Given the description of an element on the screen output the (x, y) to click on. 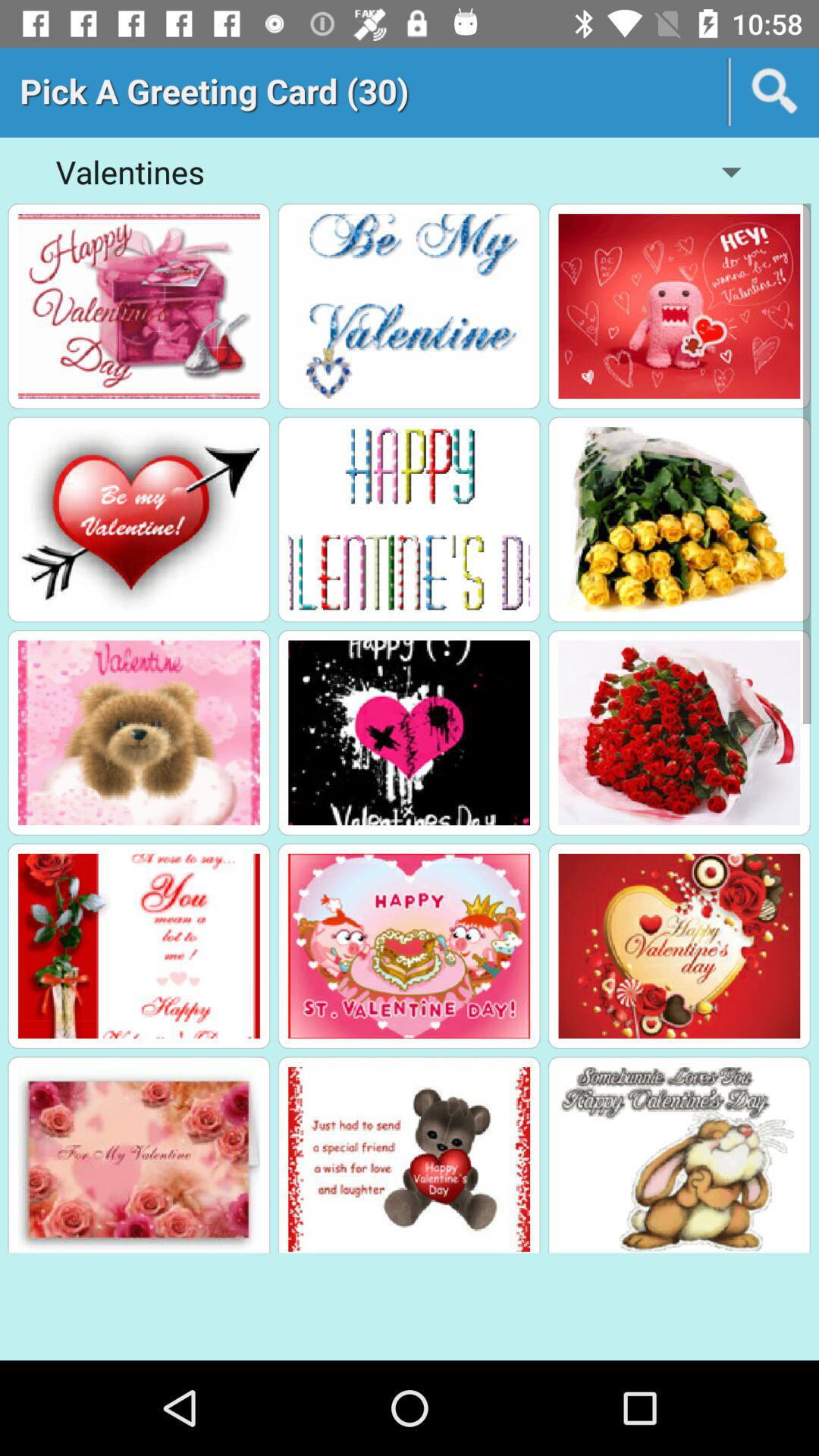
to choose/pick a card (409, 305)
